Given the description of an element on the screen output the (x, y) to click on. 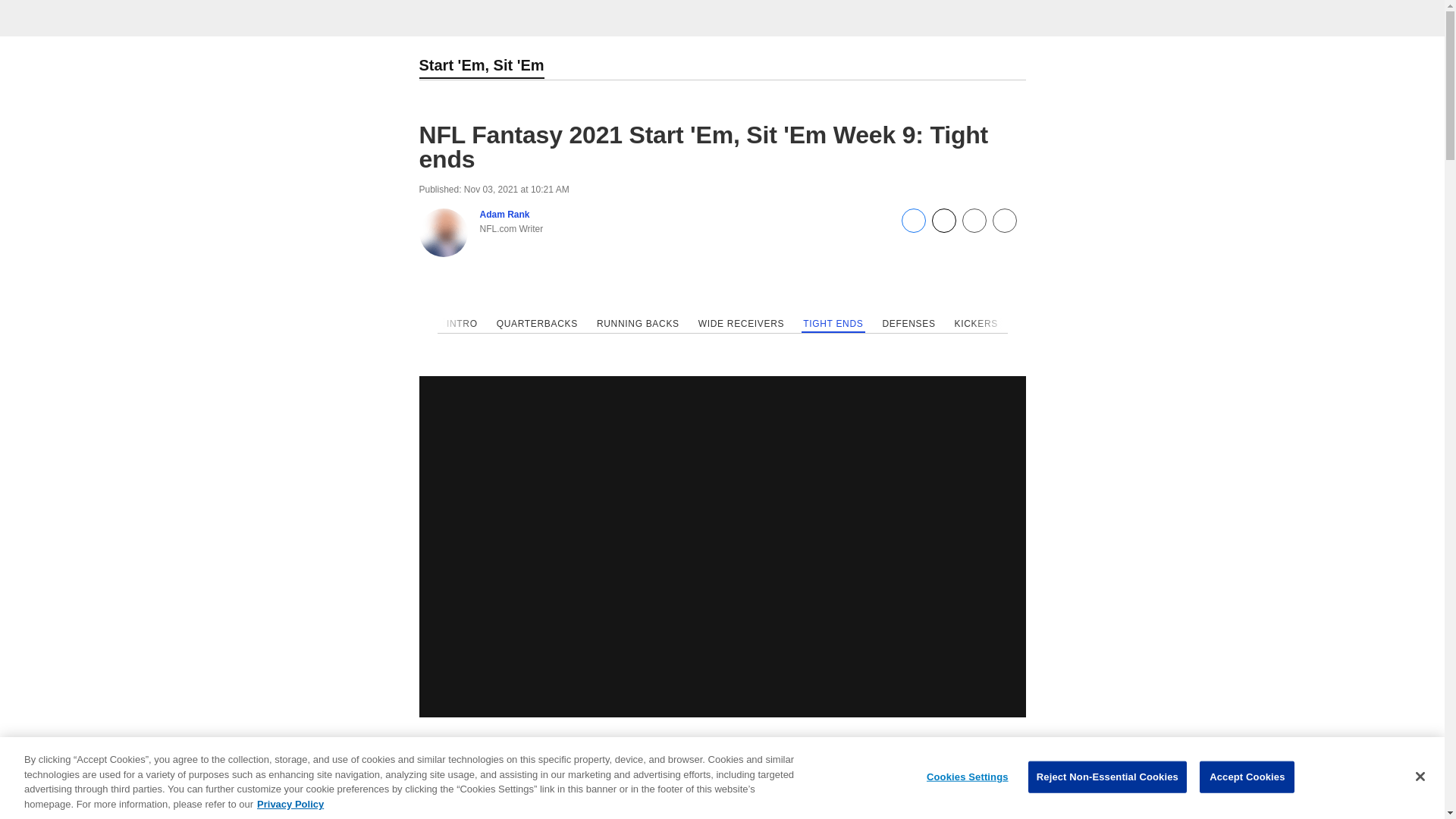
Share on Facebook (912, 228)
RUNNING BACKS (637, 324)
KICKERS (975, 324)
Send email (972, 228)
DEFENSES (908, 324)
TIGHT ENDS (833, 324)
Next (1001, 323)
Start 'Em, Sit 'Em (481, 66)
Previous (442, 323)
QUARTERBACKS (537, 324)
